Given the description of an element on the screen output the (x, y) to click on. 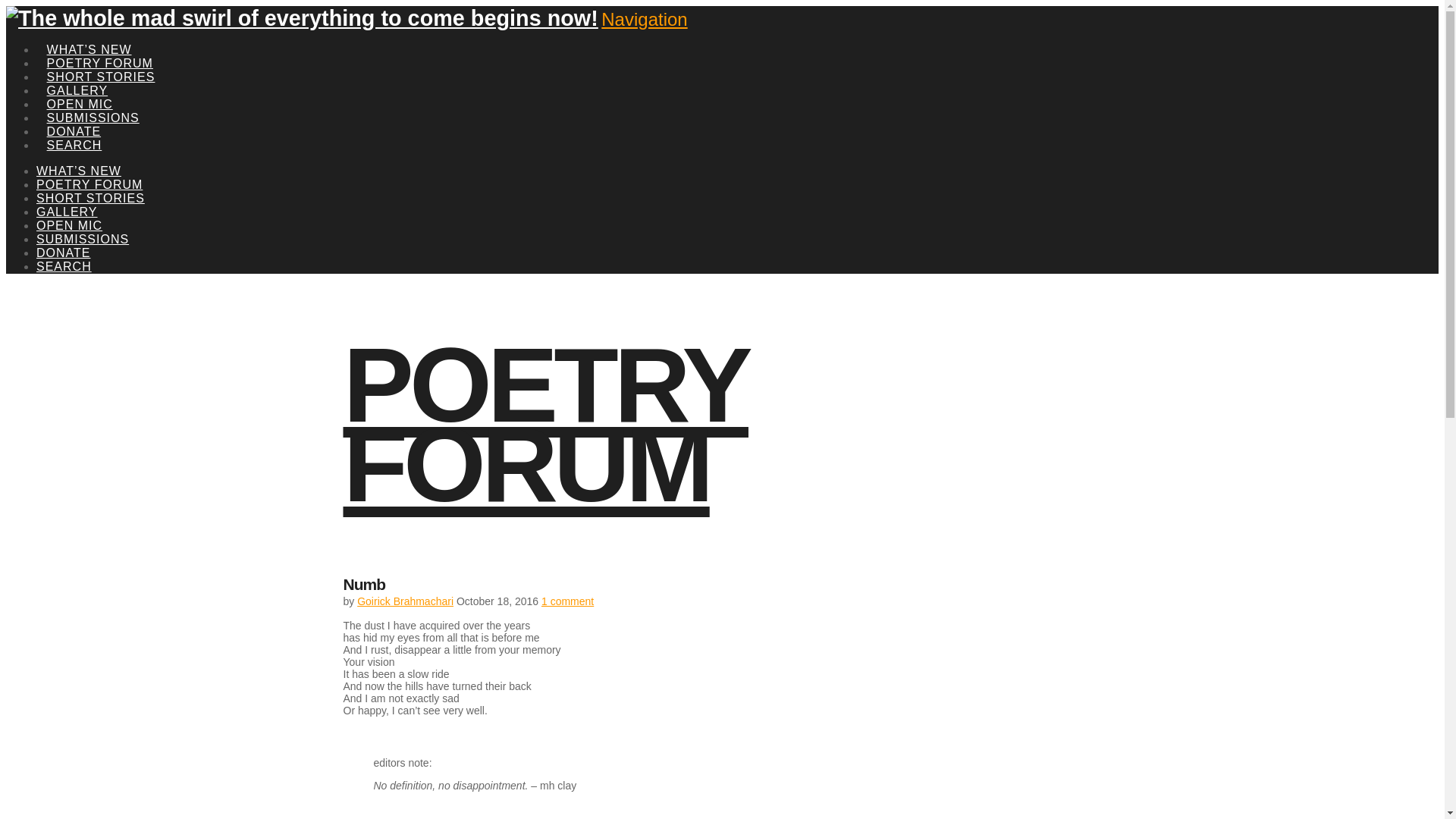
post comments (567, 601)
Navigation (644, 19)
POETRY FORUM (99, 45)
POETRY FORUM (89, 184)
1 comment (567, 601)
POETRY FORUM (545, 424)
GALLERY (66, 211)
SEARCH (74, 127)
Posts by Goirick Brahmachari (404, 601)
SHORT STORIES (100, 59)
